Given the description of an element on the screen output the (x, y) to click on. 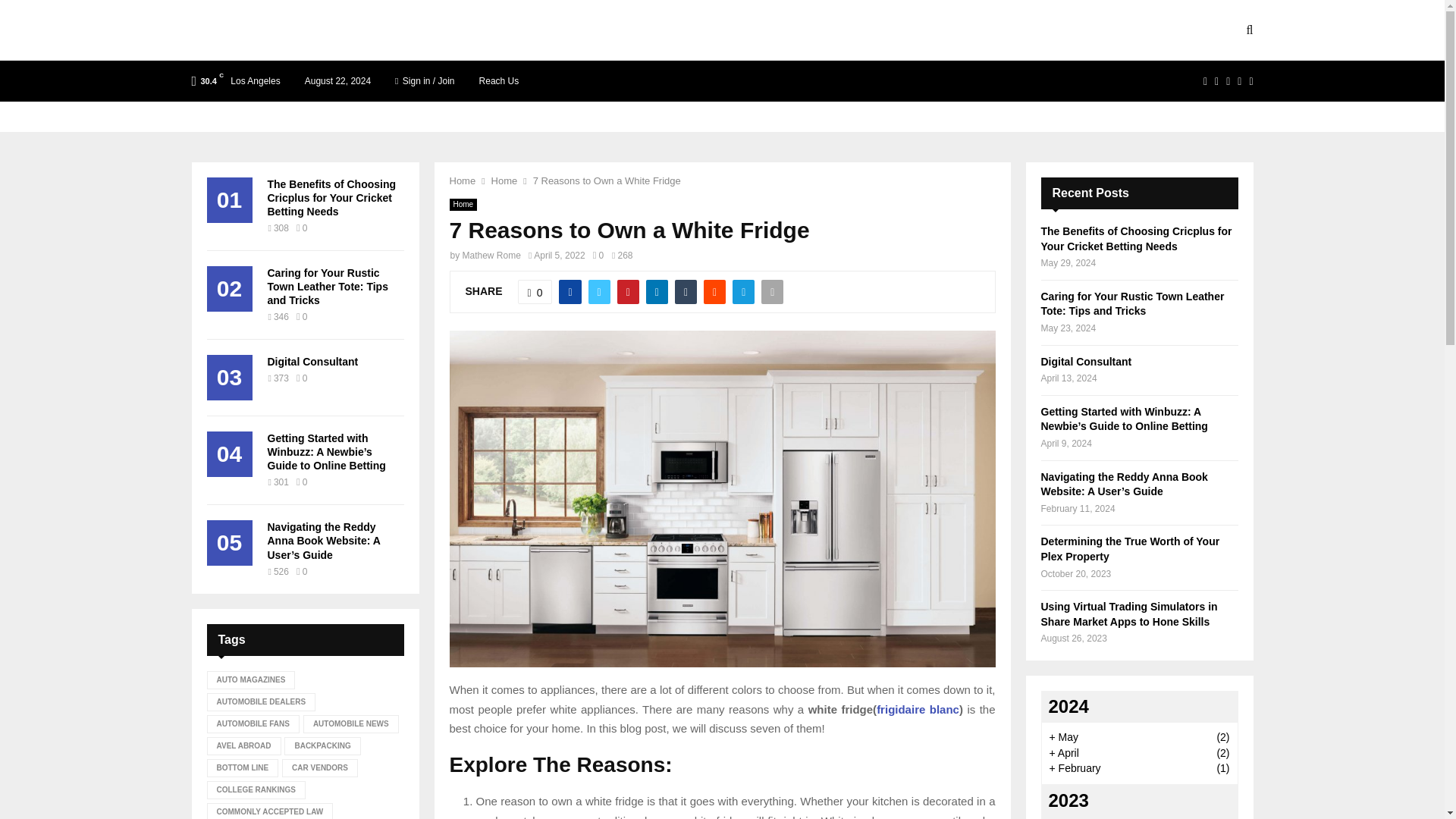
EDUCATION (552, 30)
BUSINESS (471, 30)
Reach Us (499, 80)
Home (505, 180)
Home (462, 204)
Home (462, 180)
7 Reasons to Own a White Fridge (606, 180)
Login to your account (722, 328)
SHOPPING (868, 30)
Like (535, 291)
